Given the description of an element on the screen output the (x, y) to click on. 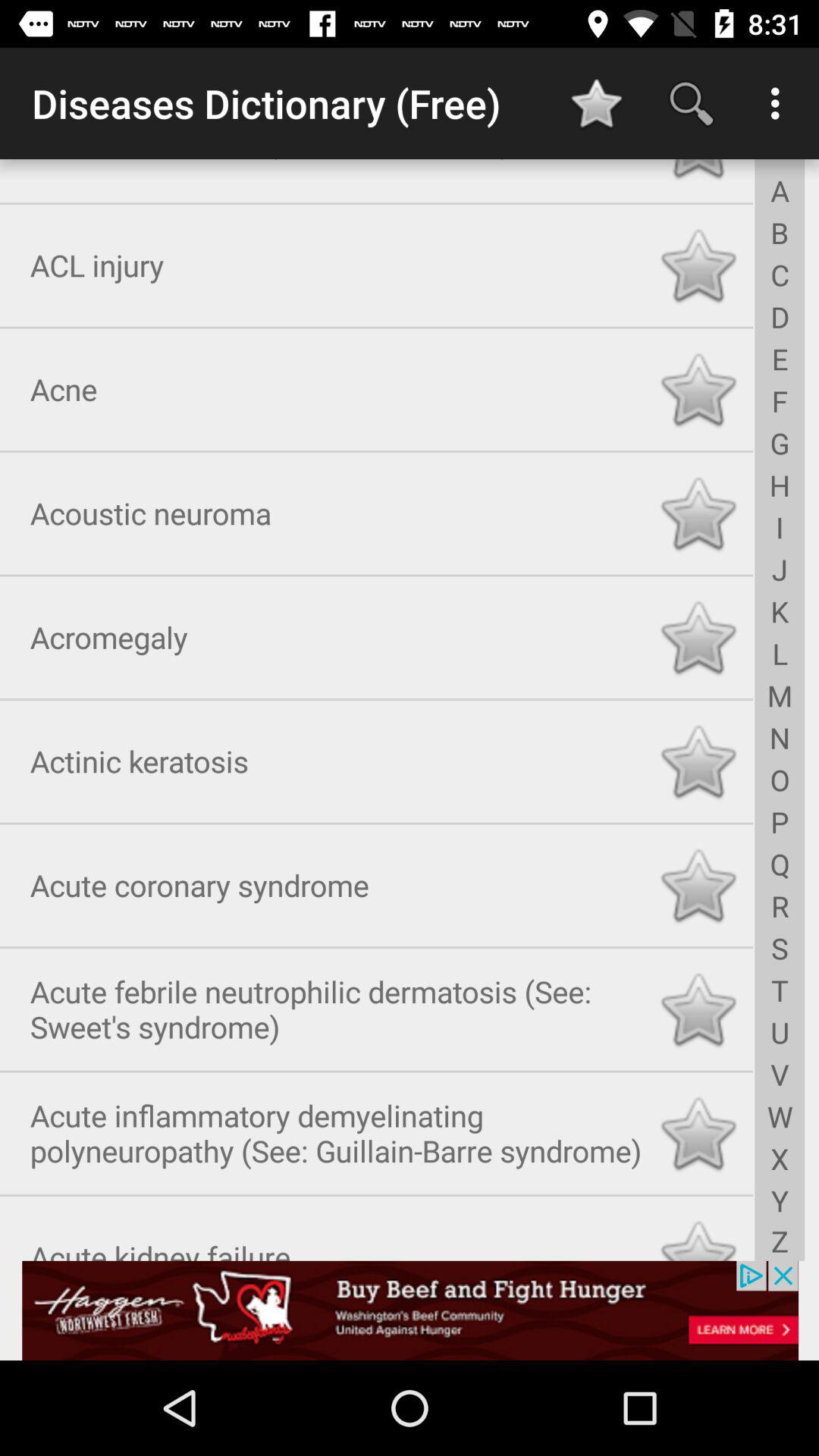
like (697, 1130)
